Given the description of an element on the screen output the (x, y) to click on. 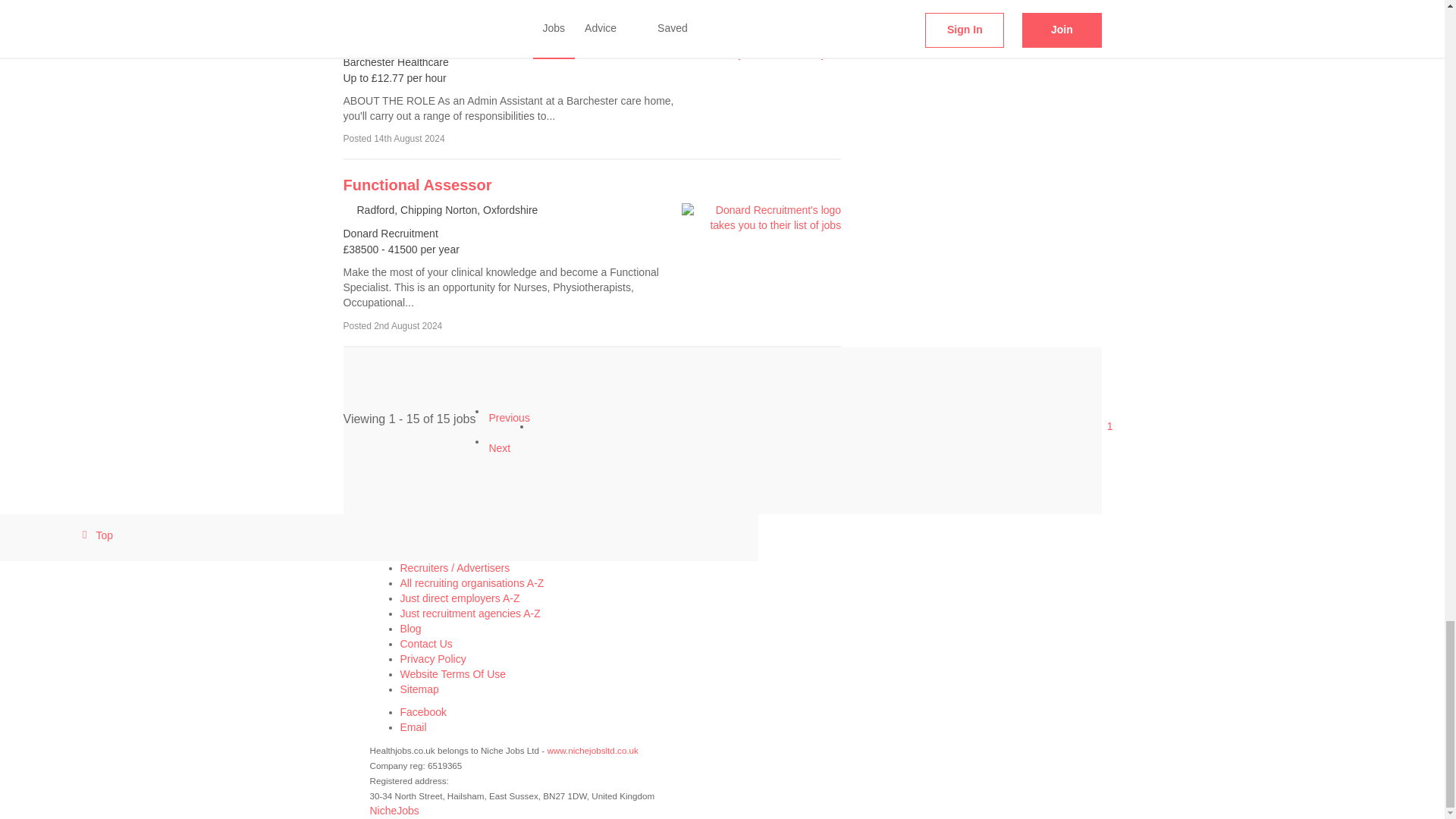
Top (379, 537)
Find out more about Donard Recruitment jobs (417, 184)
Top (95, 534)
